Given the description of an element on the screen output the (x, y) to click on. 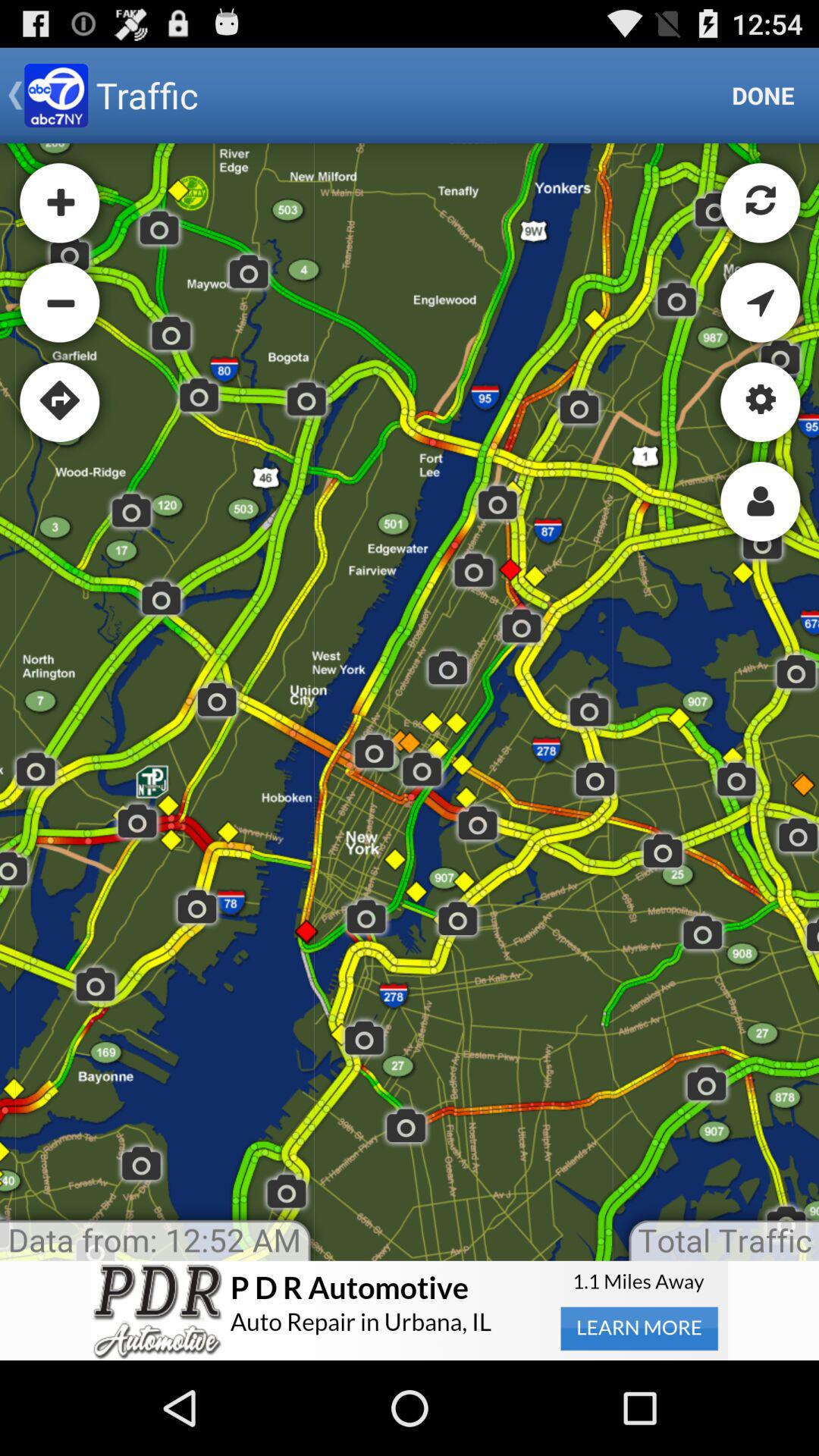
google maps devices (409, 701)
